Given the description of an element on the screen output the (x, y) to click on. 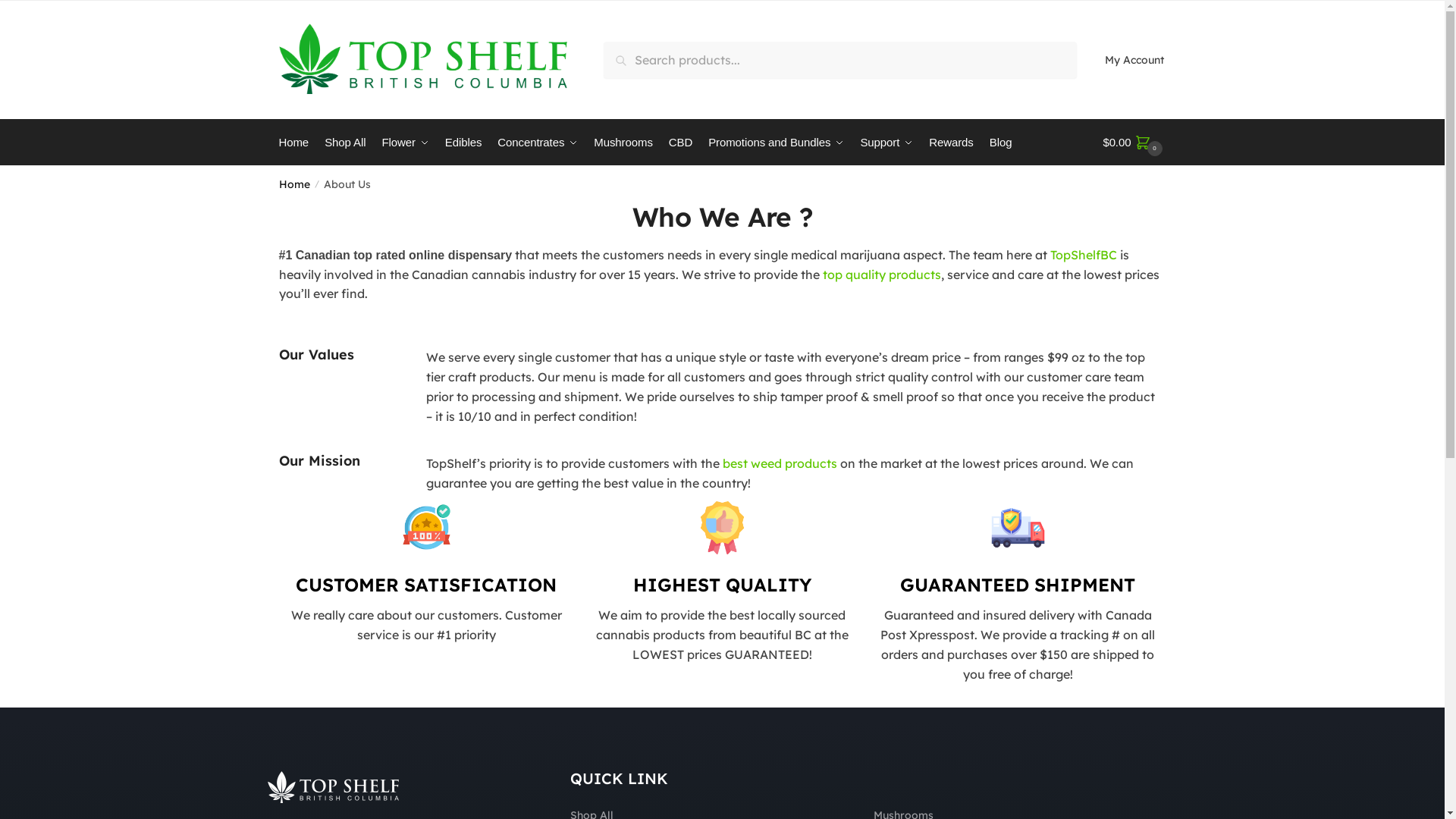
Search Element type: text (628, 51)
Support Element type: text (886, 142)
Promotions and Bundles Element type: text (776, 142)
Flower Element type: text (405, 142)
Rewards Element type: text (950, 142)
Home Element type: text (297, 142)
TopShelfBC Element type: text (1083, 254)
My Account Element type: text (1134, 60)
CBD Element type: text (680, 142)
Mushrooms Element type: text (622, 142)
Blog Element type: text (999, 142)
Edibles Element type: text (463, 142)
Home Element type: text (294, 184)
best weed products Element type: text (779, 462)
$0.00 0 Element type: text (1133, 142)
Concentrates Element type: text (537, 142)
Shop All Element type: text (345, 142)
top quality products Element type: text (881, 274)
